Given the description of an element on the screen output the (x, y) to click on. 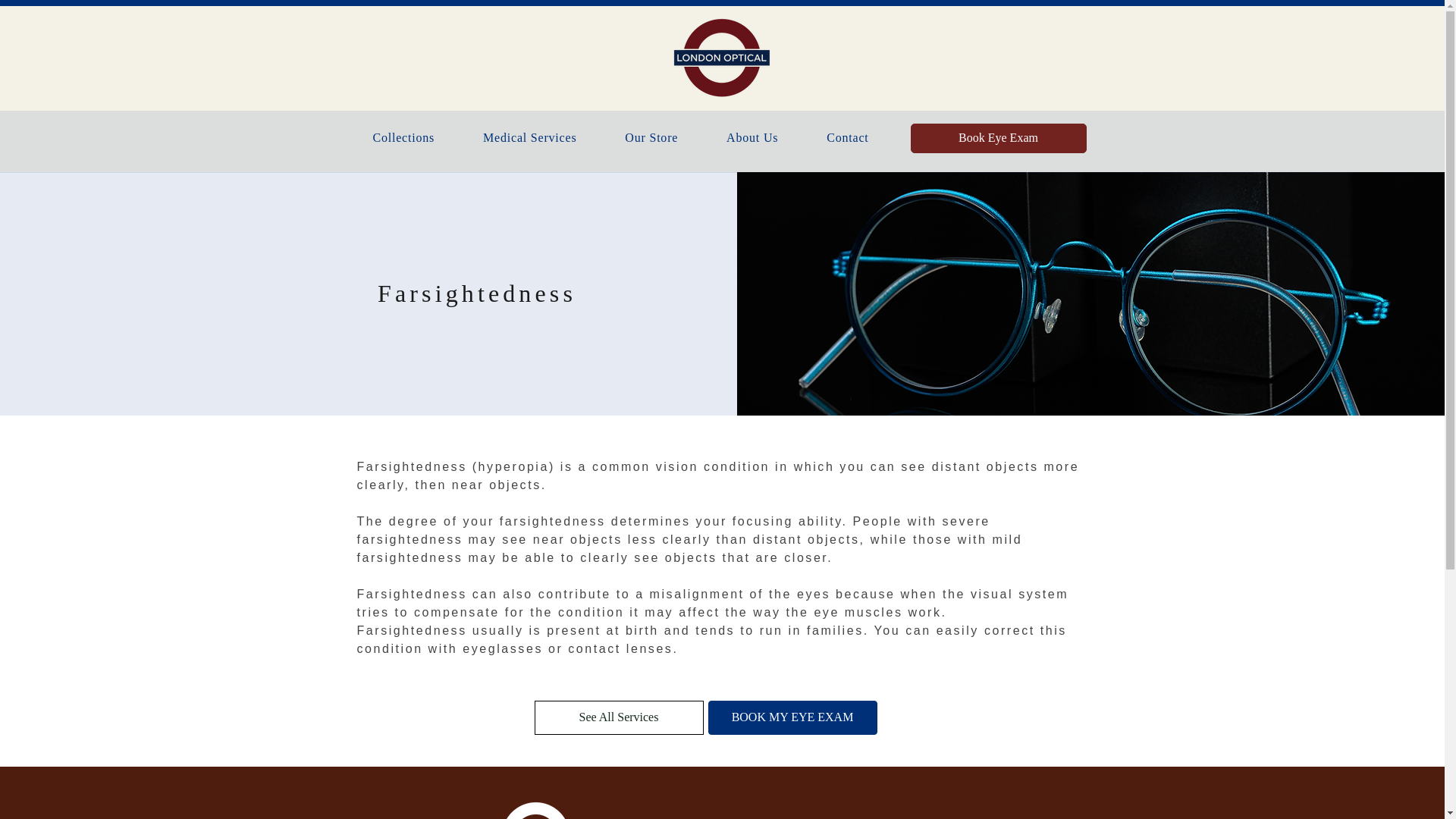
Book Eye Exam (998, 138)
Our Store (651, 137)
See All Services (618, 717)
Medical Services (529, 137)
About Us (752, 137)
Collections (403, 137)
Contact (846, 137)
BOOK MY EYE EXAM (792, 717)
